Given the description of an element on the screen output the (x, y) to click on. 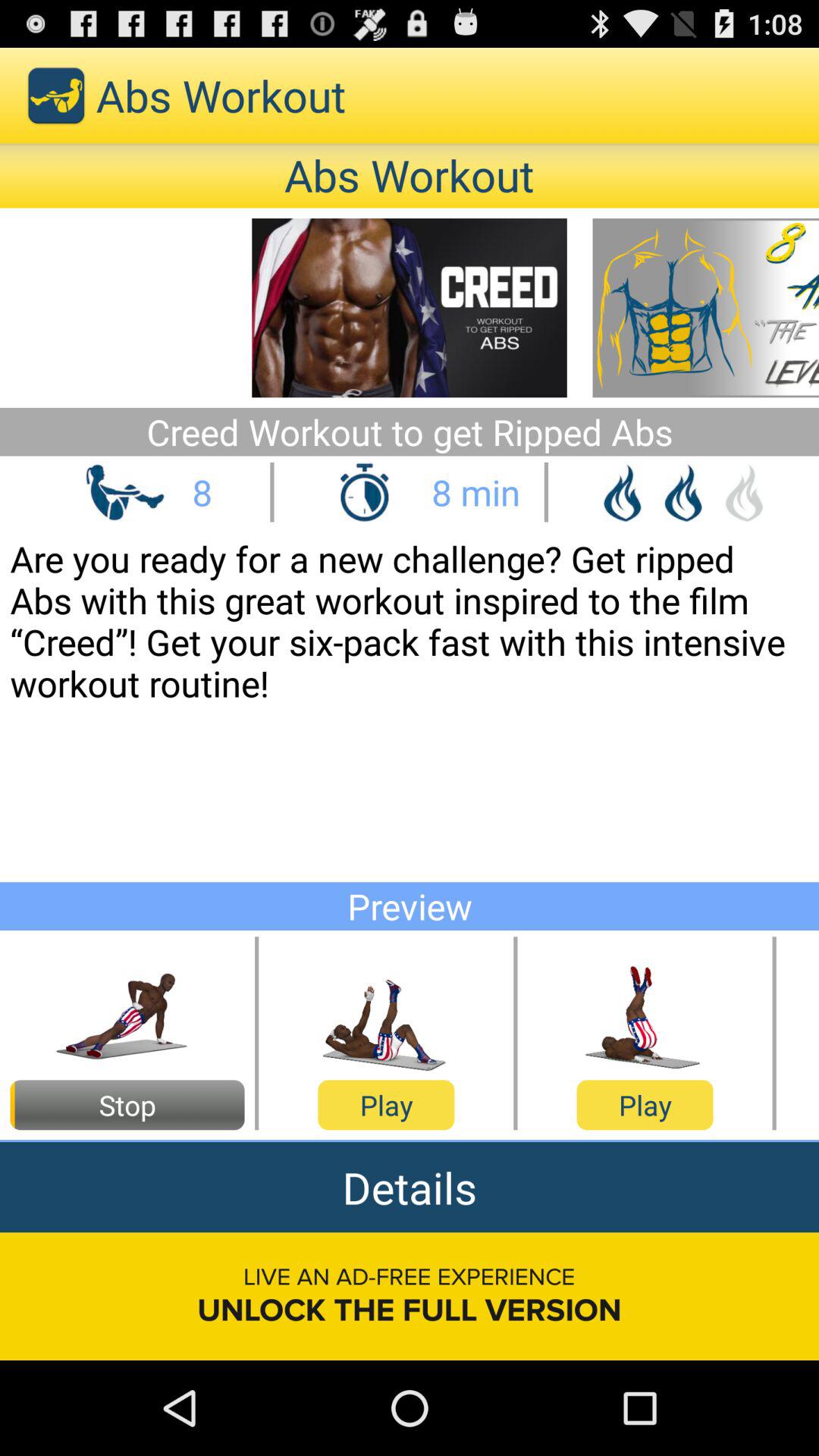
jump to stop (127, 1105)
